Given the description of an element on the screen output the (x, y) to click on. 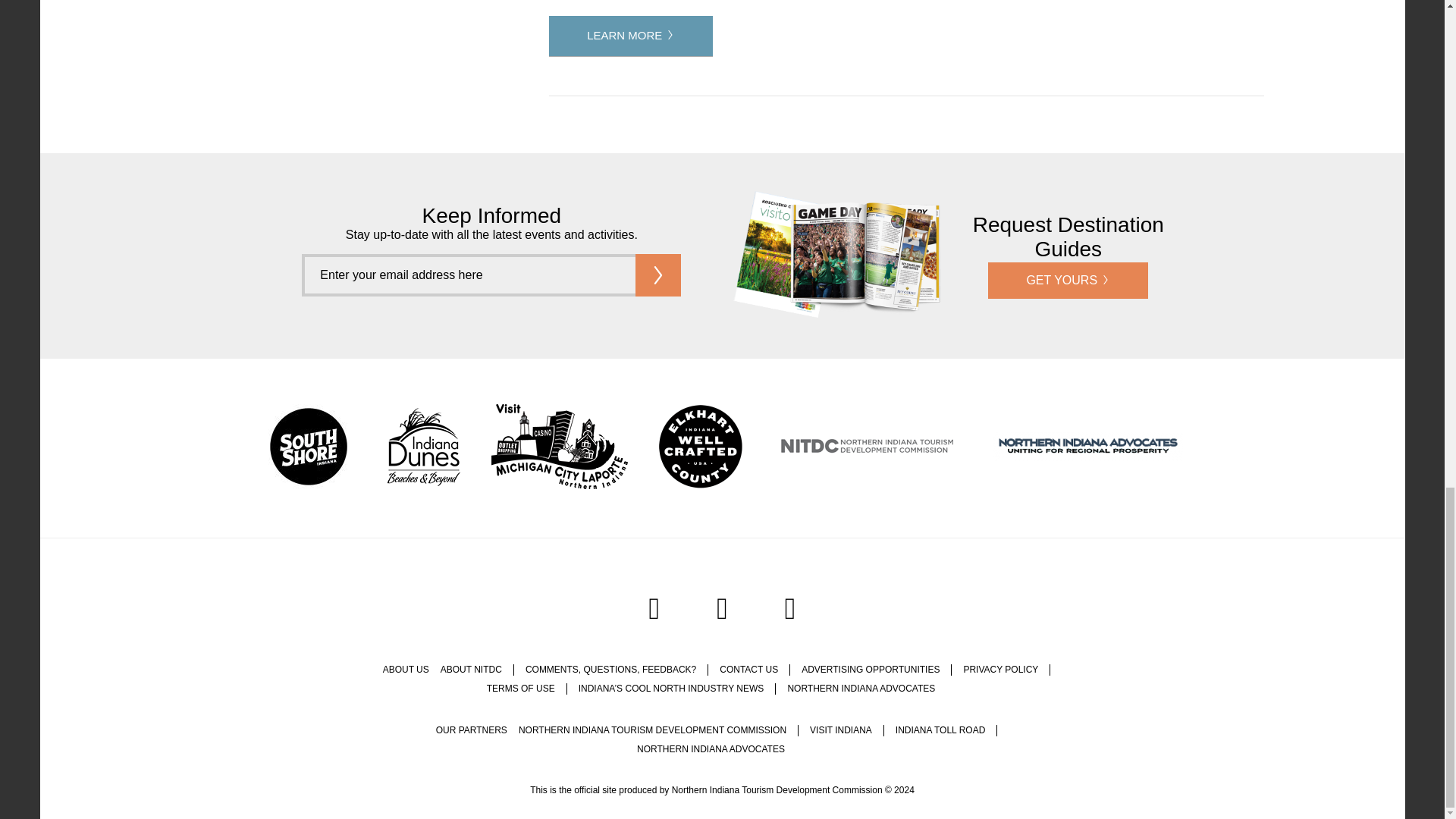
Indiana Dunes (423, 448)
Enter your email address here (467, 274)
Visit Michigan City LaPorte (559, 448)
